Given the description of an element on the screen output the (x, y) to click on. 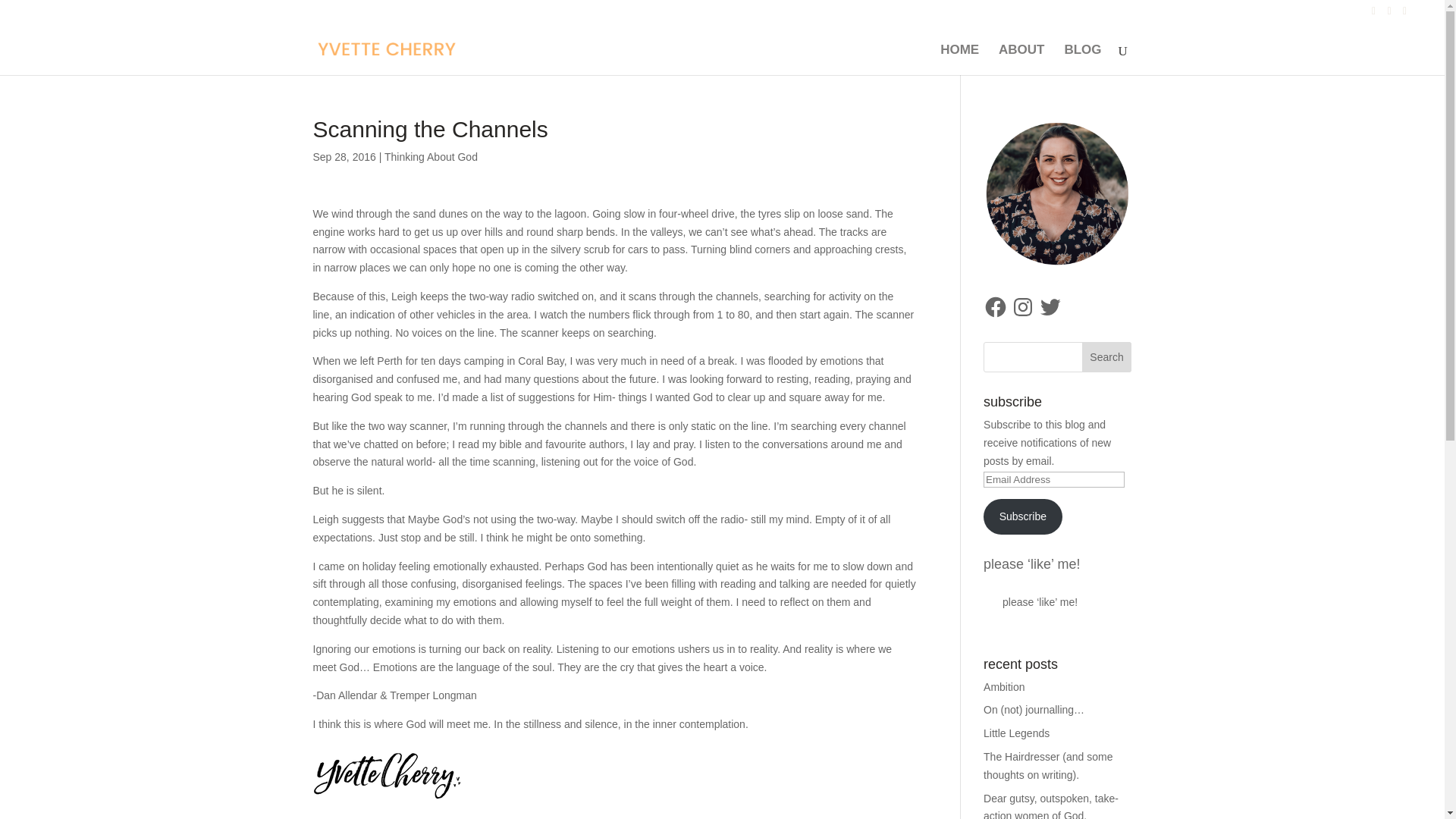
Twitter (1050, 306)
Search (1106, 357)
ABOUT (1020, 59)
Instagram (1022, 306)
Ambition (1004, 686)
Dear gutsy, outspoken, take-action women of God, (1051, 805)
Subscribe (1023, 515)
BLOG (1082, 59)
Search (1106, 357)
Facebook (995, 306)
